Given the description of an element on the screen output the (x, y) to click on. 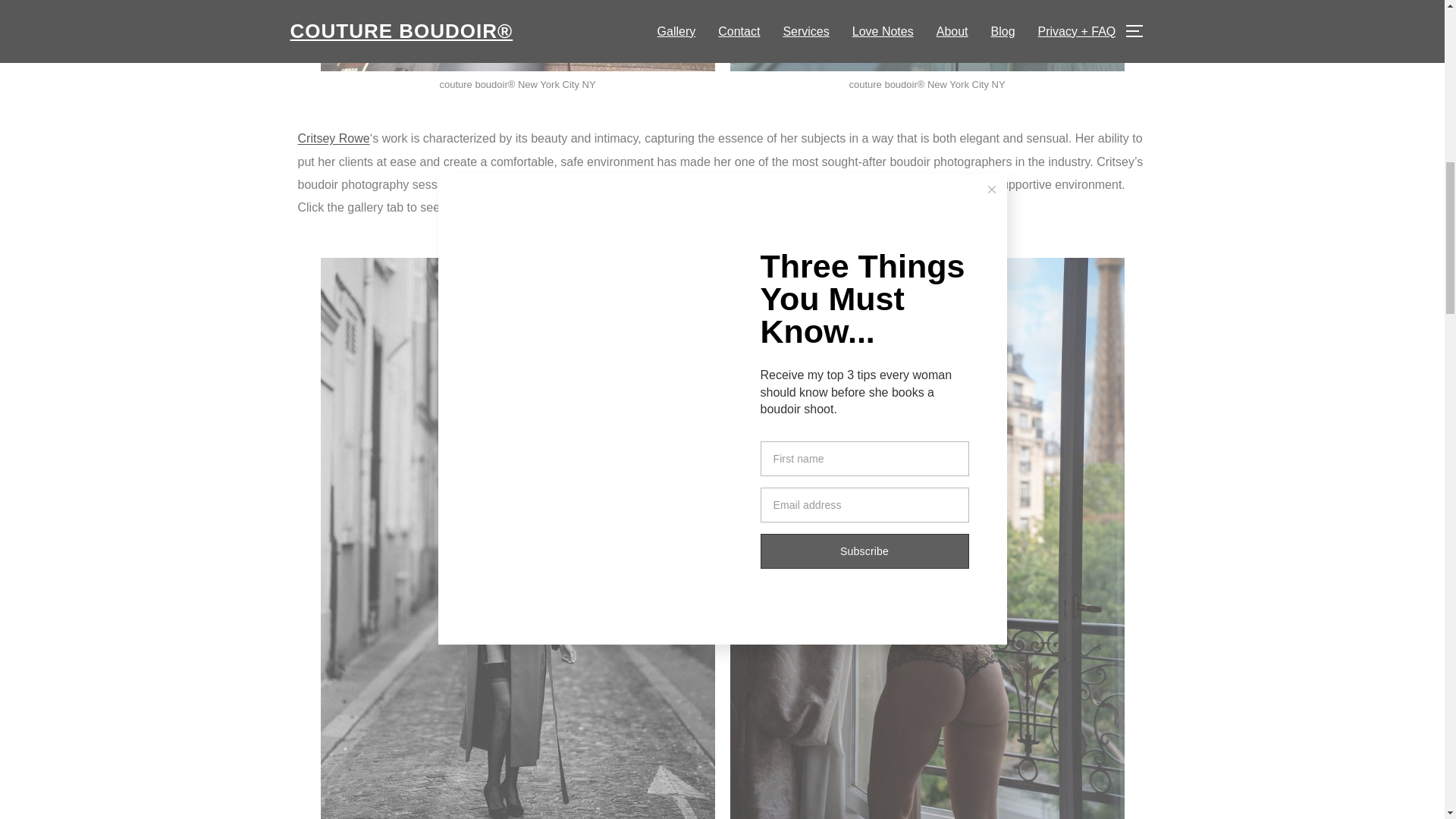
Critsey Rowe (333, 137)
